Given the description of an element on the screen output the (x, y) to click on. 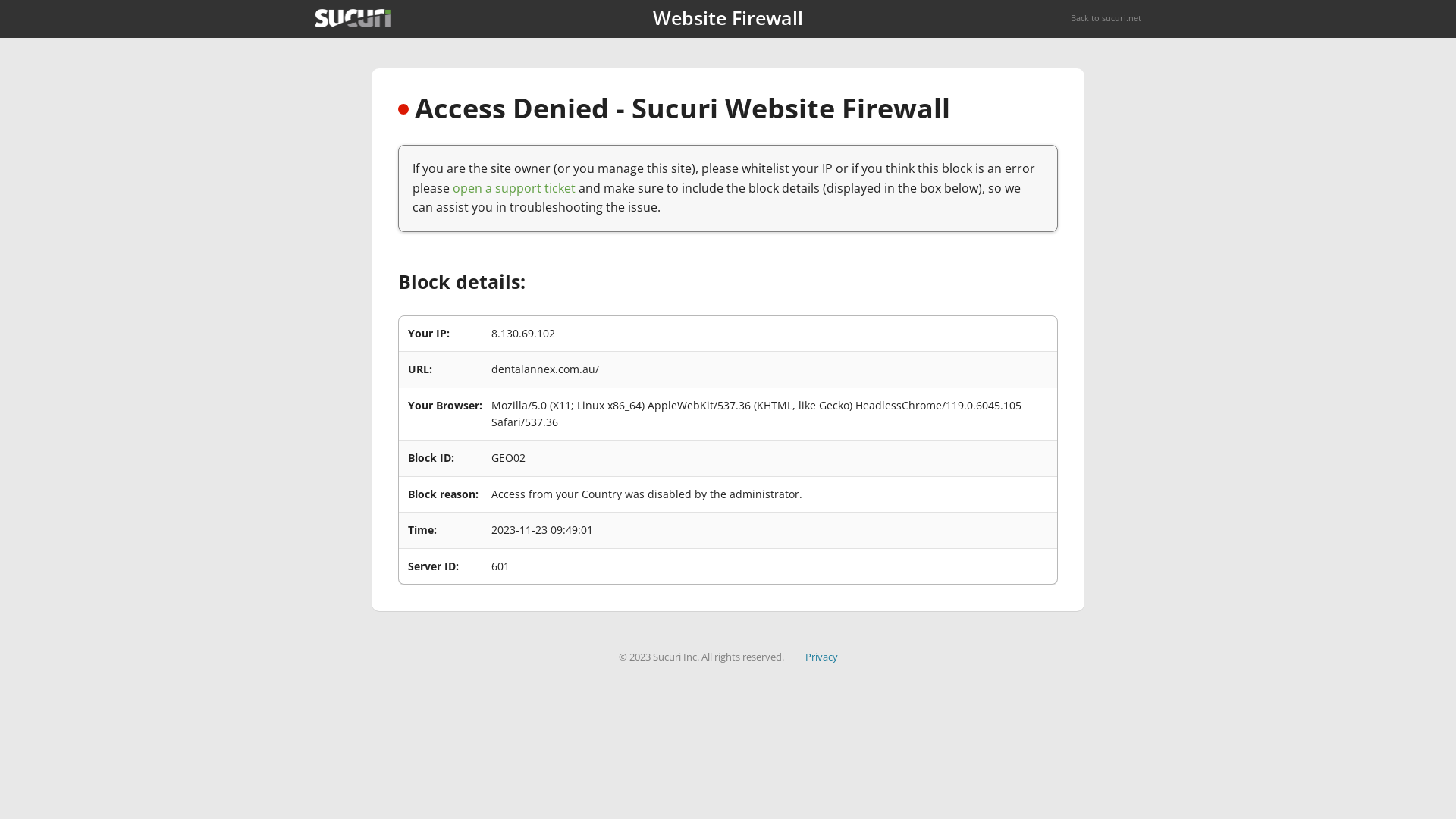
Back to sucuri.net Element type: text (1105, 18)
Privacy Element type: text (821, 656)
open a support ticket Element type: text (513, 187)
